Given the description of an element on the screen output the (x, y) to click on. 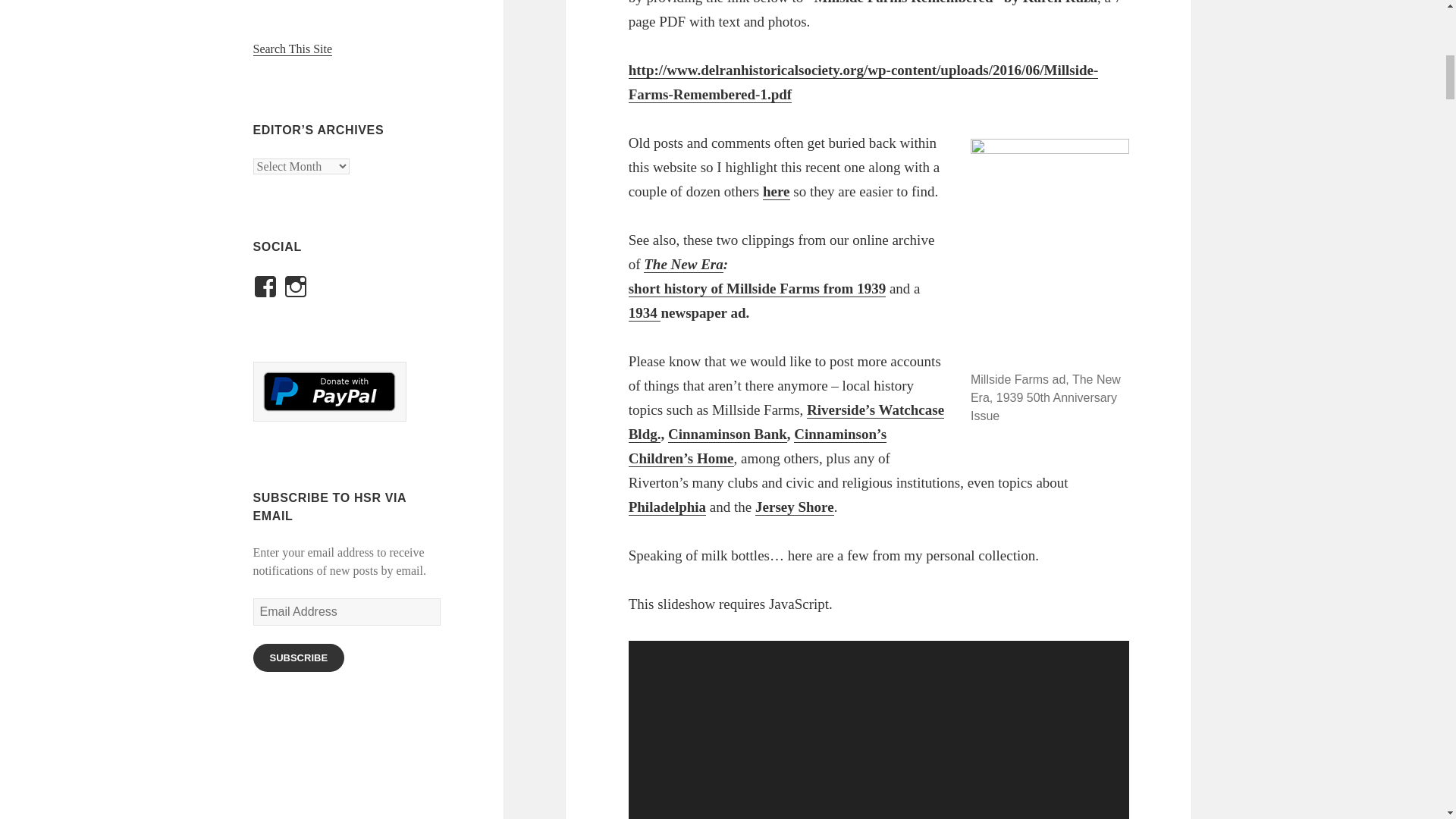
short history of Millside Farms from 1939 (757, 288)
The New Era (683, 264)
SUBSCRIBE (299, 657)
Jersey Shore (794, 506)
here (776, 191)
Search This Site (293, 49)
1934 (644, 312)
Cinnaminson Bank (727, 434)
Philadelphia (667, 506)
